Given the description of an element on the screen output the (x, y) to click on. 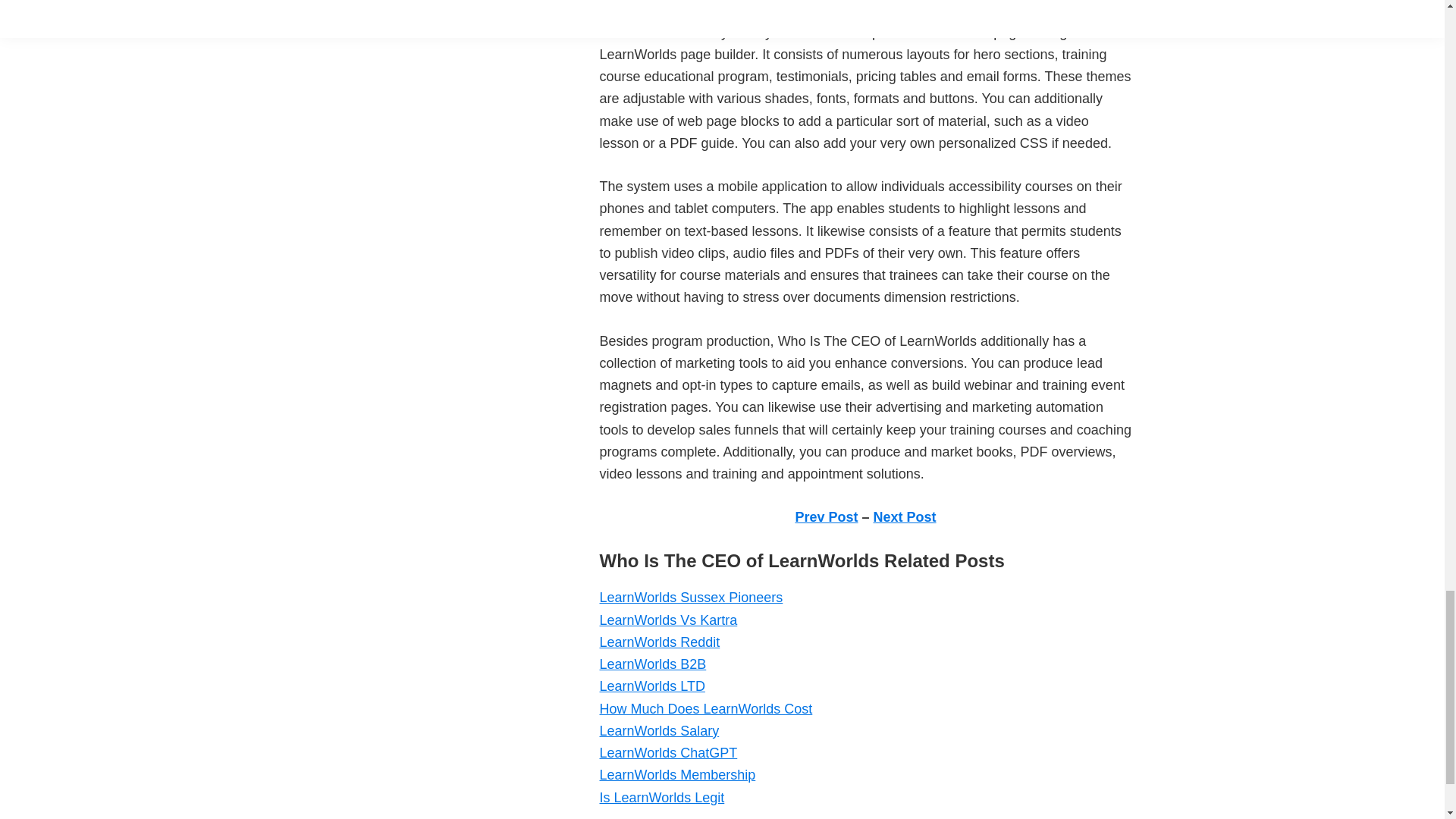
Is LearnWorlds Legit (660, 797)
LearnWorlds Sussex Pioneers (690, 597)
LearnWorlds Vs Kartra (667, 620)
LearnWorlds B2B (652, 663)
LearnWorlds Membership (676, 774)
LearnWorlds Salary (658, 730)
How Much Does LearnWorlds Cost (705, 708)
Is LearnWorlds Legit (660, 797)
LearnWorlds Reddit (658, 642)
LearnWorlds Salary (658, 730)
Prev Post (825, 516)
LearnWorlds LTD (651, 685)
LearnWorlds Vs Kartra (667, 620)
LearnWorlds B2B (652, 663)
LearnWorlds Sussex Pioneers (690, 597)
